Given the description of an element on the screen output the (x, y) to click on. 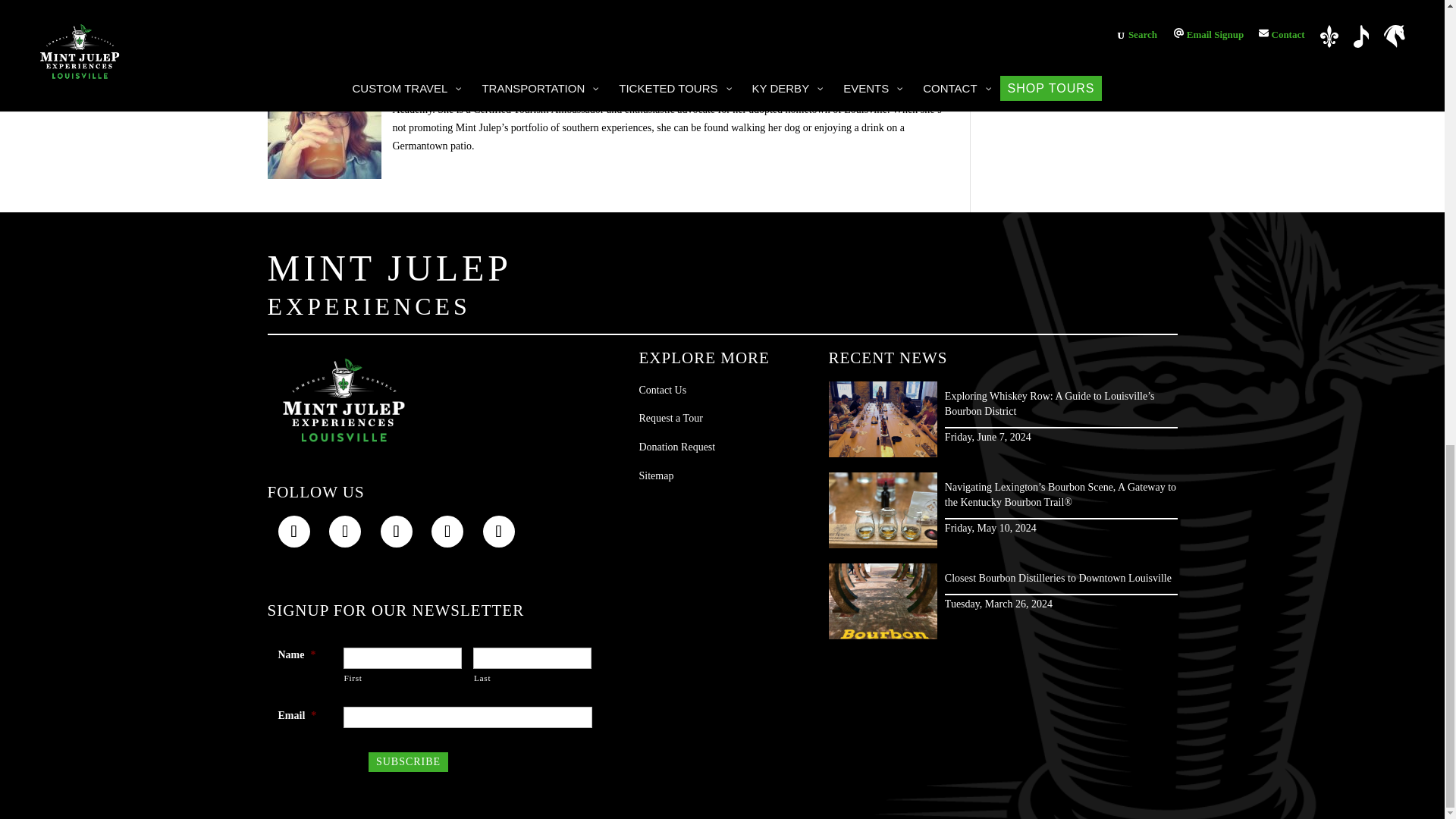
LinkedIn (396, 531)
SUBSCRIBE (408, 762)
Rachel Goldenberg (323, 122)
Facebook (293, 531)
Instagram (345, 531)
